Given the description of an element on the screen output the (x, y) to click on. 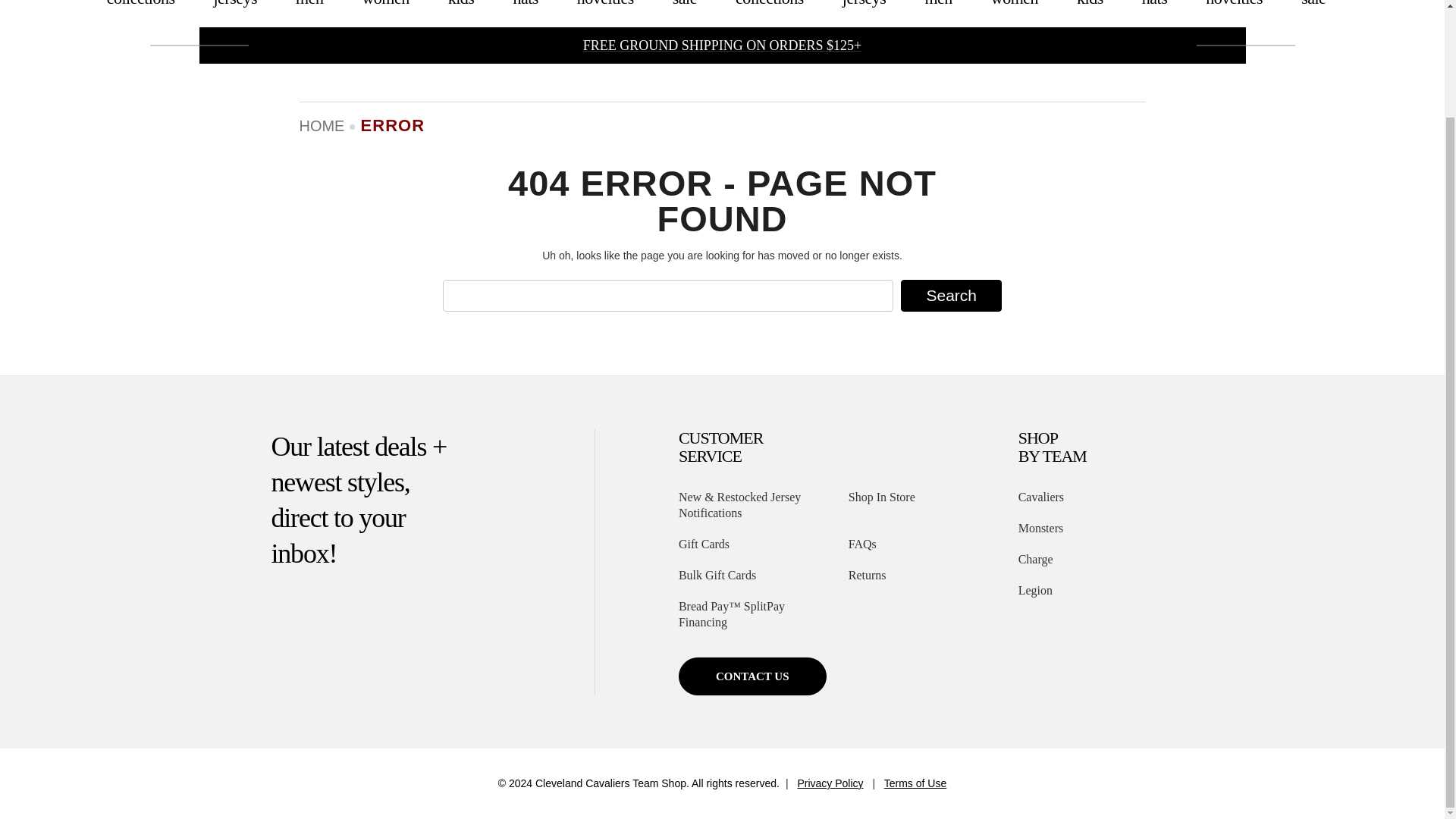
jerseys (234, 13)
Search (951, 296)
collections (140, 13)
men (309, 13)
